Given the description of an element on the screen output the (x, y) to click on. 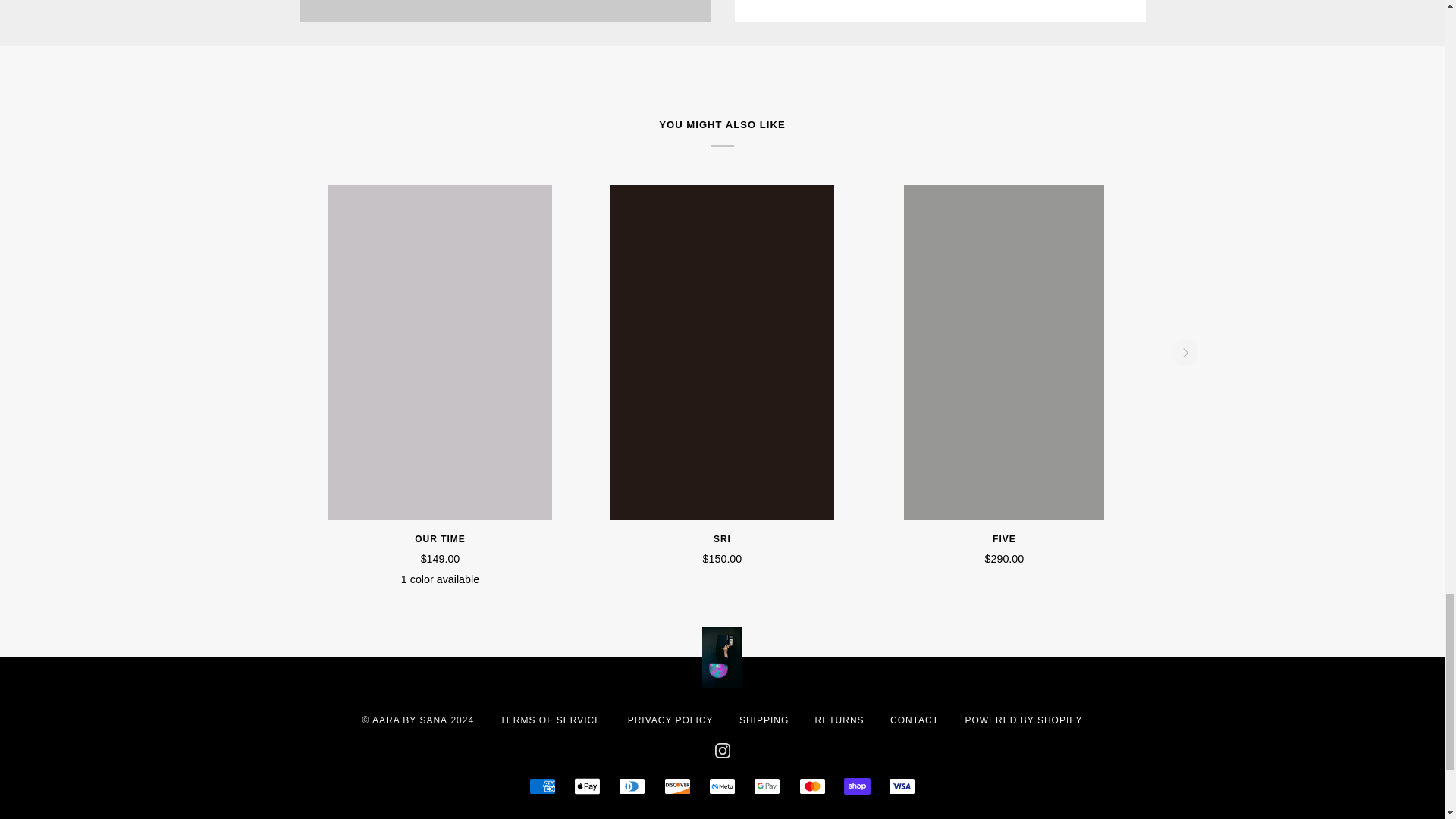
DINERS CLUB (631, 786)
GOOGLE PAY (767, 786)
SHOP PAY (857, 786)
META PAY (722, 786)
VISA (901, 786)
AMERICAN EXPRESS (542, 786)
APPLE PAY (586, 786)
MASTERCARD (812, 786)
Instagram (721, 750)
DISCOVER (676, 786)
